Given the description of an element on the screen output the (x, y) to click on. 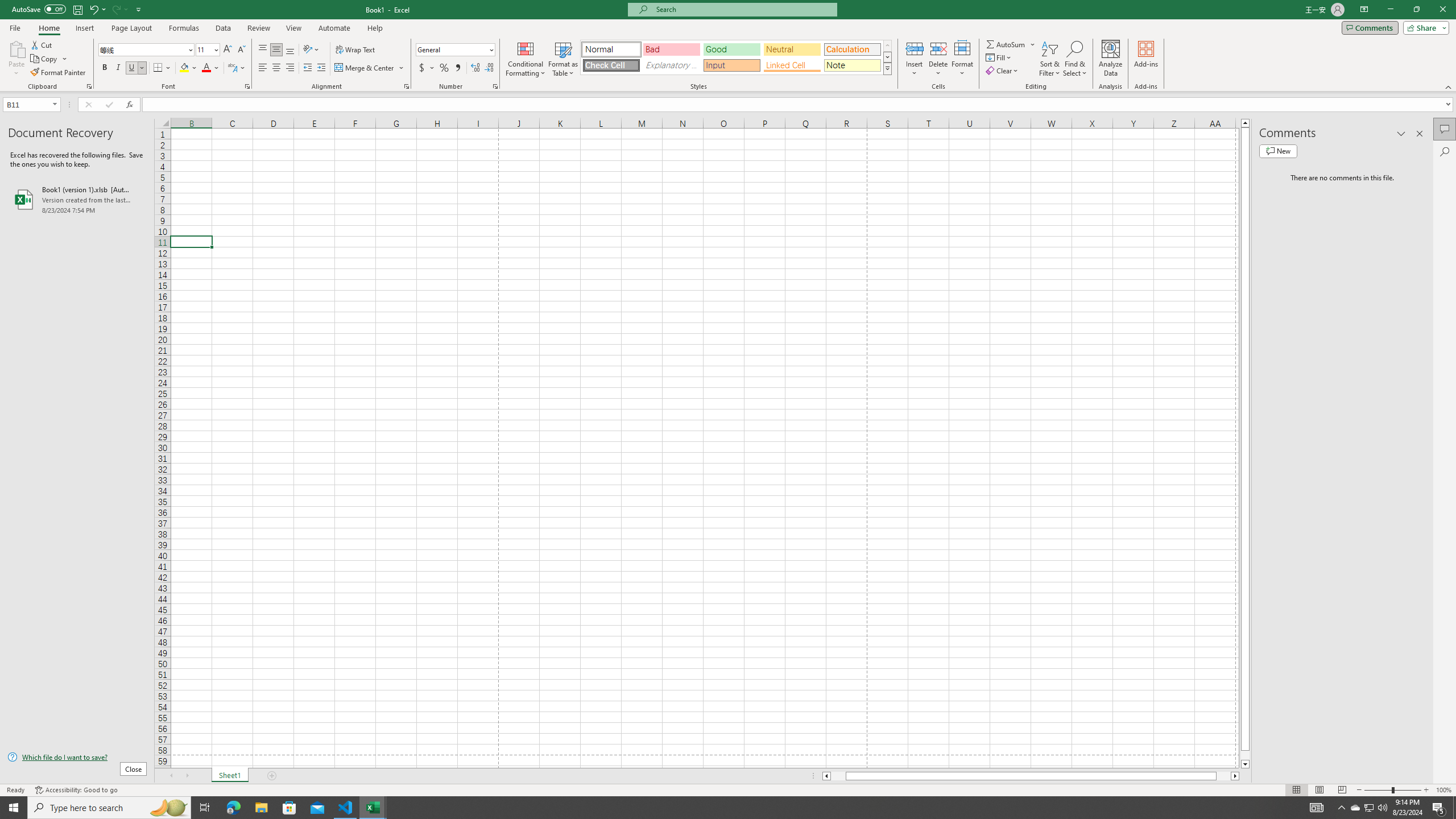
Find & Select (1075, 58)
Orientation (311, 49)
Format as Table (563, 58)
